Given the description of an element on the screen output the (x, y) to click on. 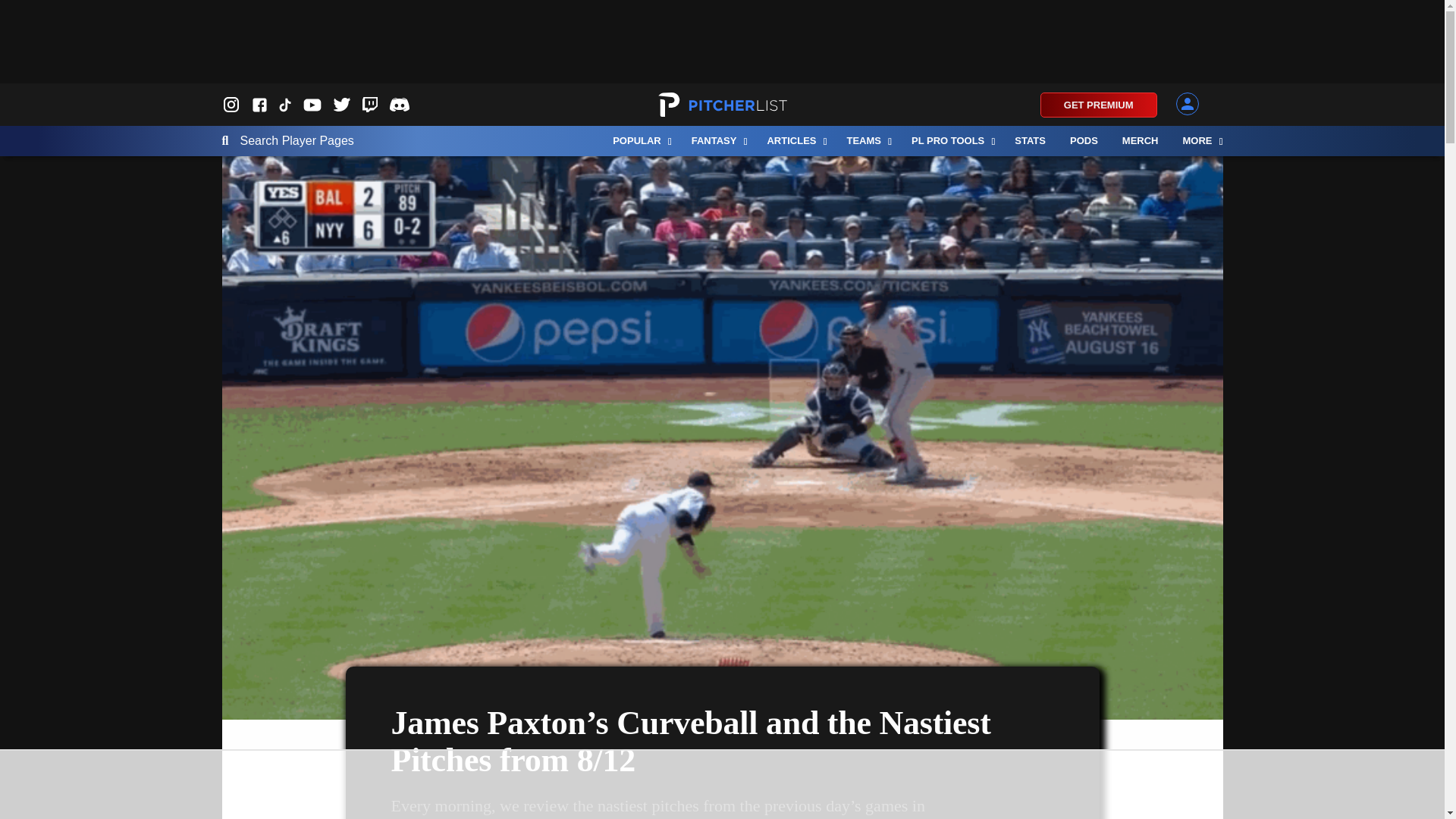
GET PREMIUM (1099, 104)
FANTASY (717, 141)
